Given the description of an element on the screen output the (x, y) to click on. 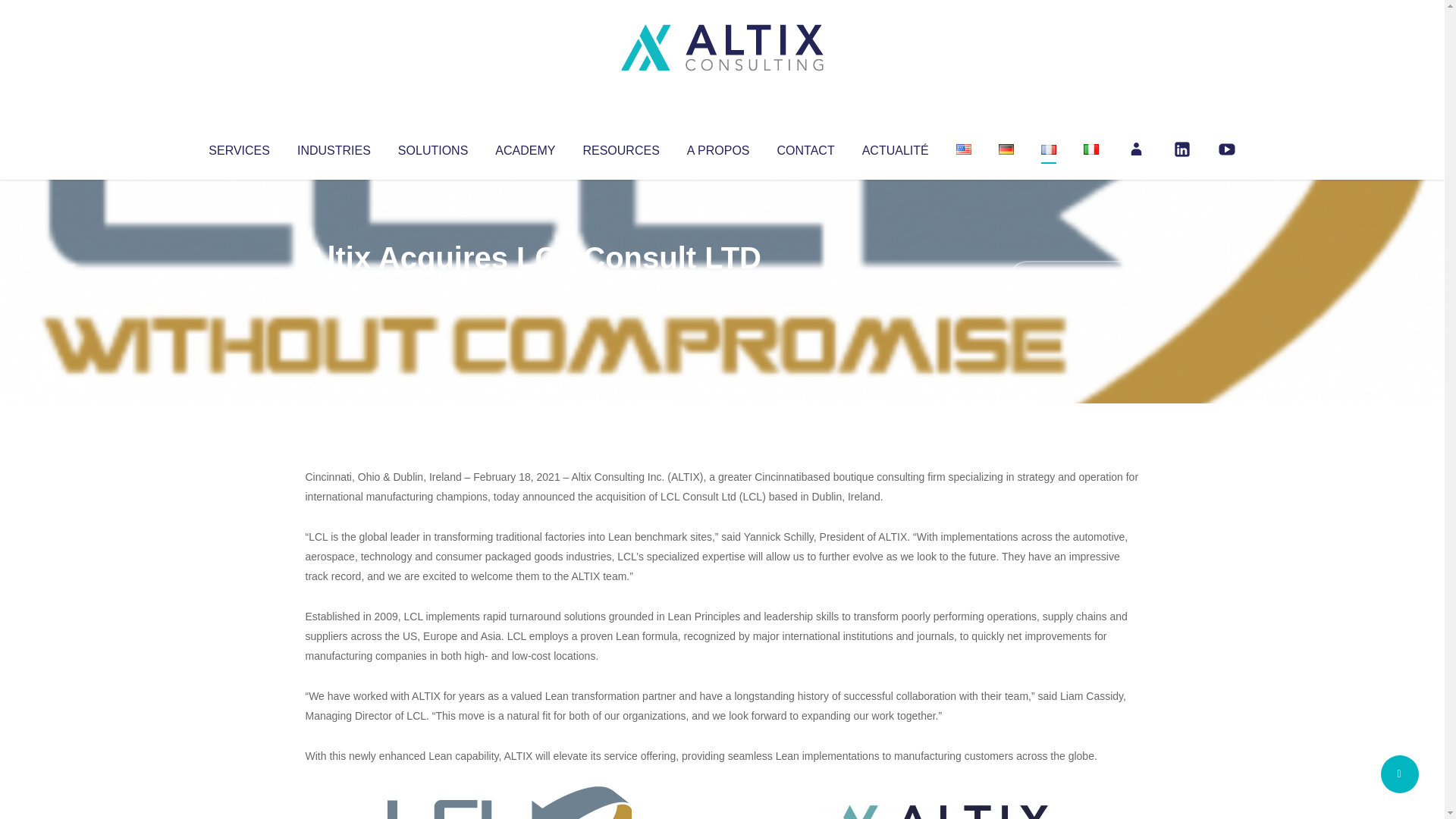
Altix (333, 287)
RESOURCES (620, 146)
Uncategorized (530, 287)
Articles par Altix (333, 287)
SOLUTIONS (432, 146)
A PROPOS (718, 146)
ACADEMY (524, 146)
No Comments (1073, 278)
INDUSTRIES (334, 146)
SERVICES (238, 146)
